Given the description of an element on the screen output the (x, y) to click on. 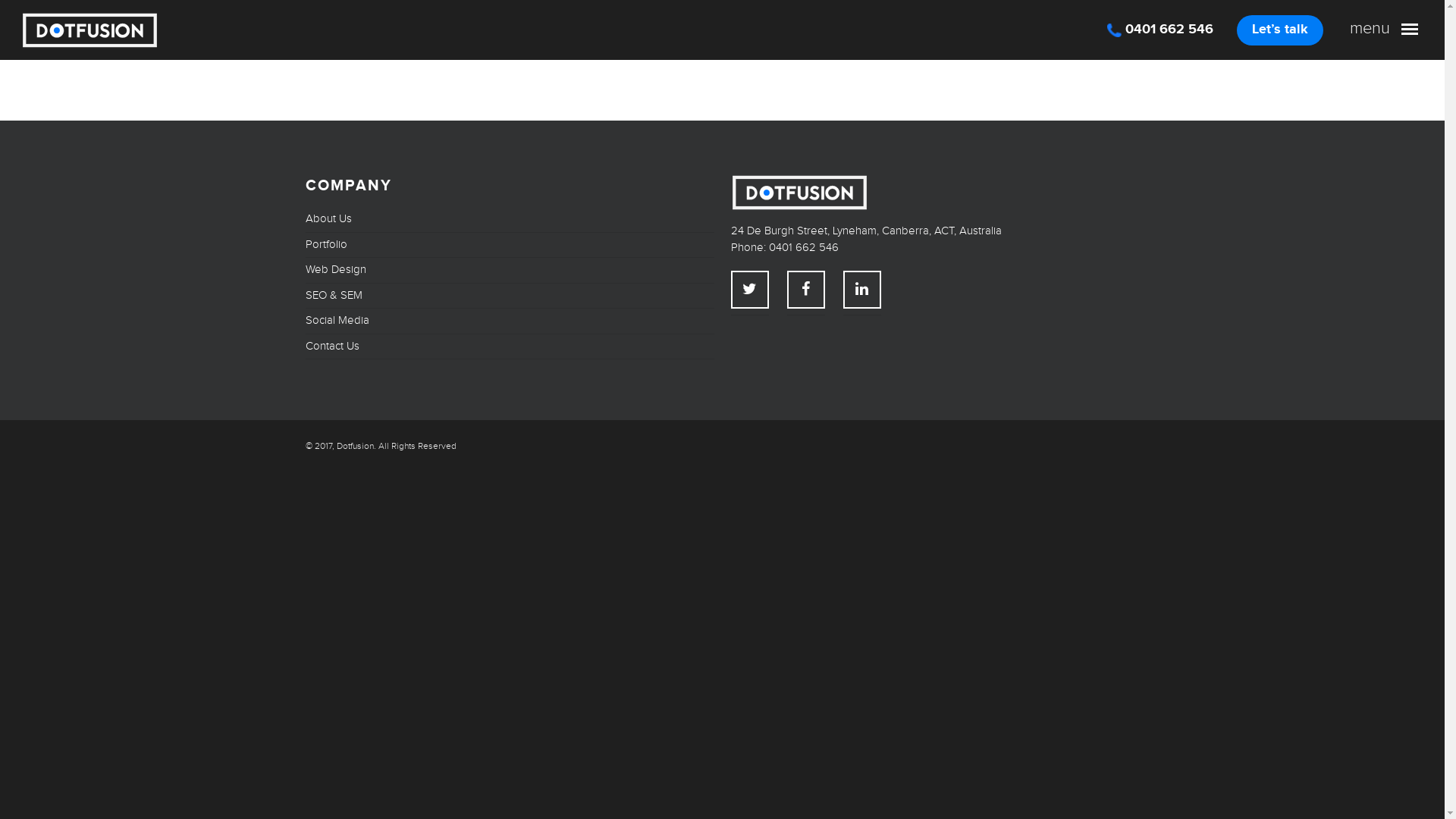
Portfolio Element type: text (508, 244)
About Us Element type: text (508, 222)
Contact Us Element type: text (508, 346)
0401 662 546 Element type: text (1165, 35)
SEO & SEM Element type: text (508, 295)
Web Design Element type: text (508, 269)
Social Media Element type: text (508, 320)
